Given the description of an element on the screen output the (x, y) to click on. 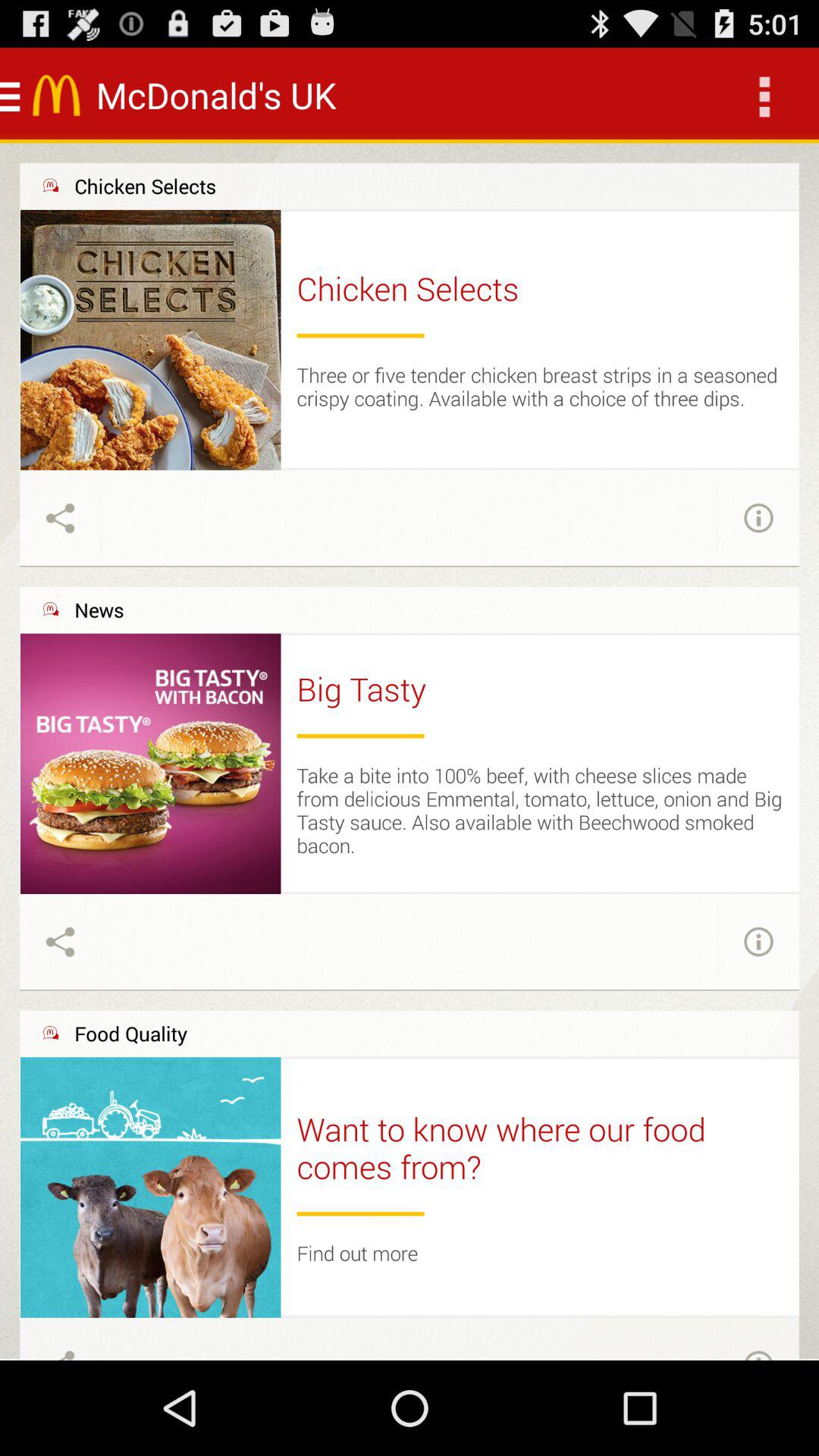
swipe to the food quality (130, 1033)
